Given the description of an element on the screen output the (x, y) to click on. 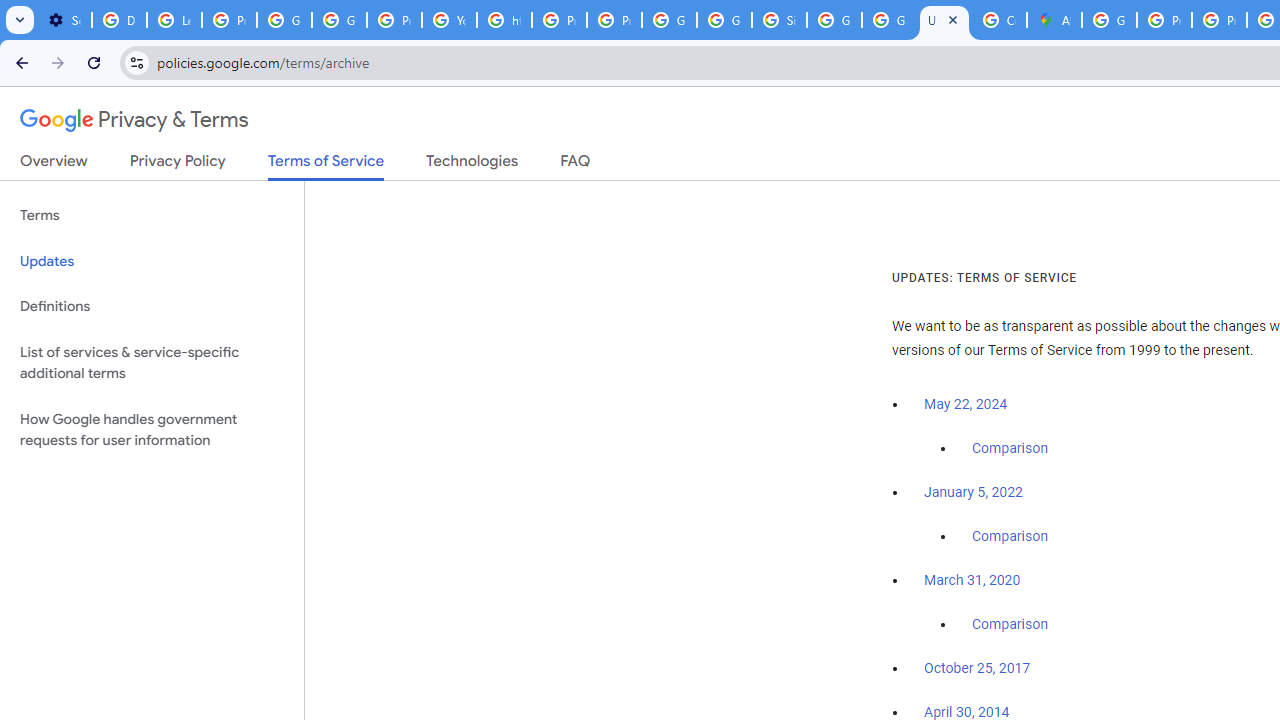
Create your Google Account (998, 20)
Terms of Service (326, 166)
https://scholar.google.com/ (504, 20)
Privacy Policy (177, 165)
Comparison (1009, 625)
Learn how to find your photos - Google Photos Help (174, 20)
List of services & service-specific additional terms (152, 362)
YouTube (449, 20)
Delete photos & videos - Computer - Google Photos Help (119, 20)
Overview (54, 165)
Privacy Help Center - Policies Help (1163, 20)
